Given the description of an element on the screen output the (x, y) to click on. 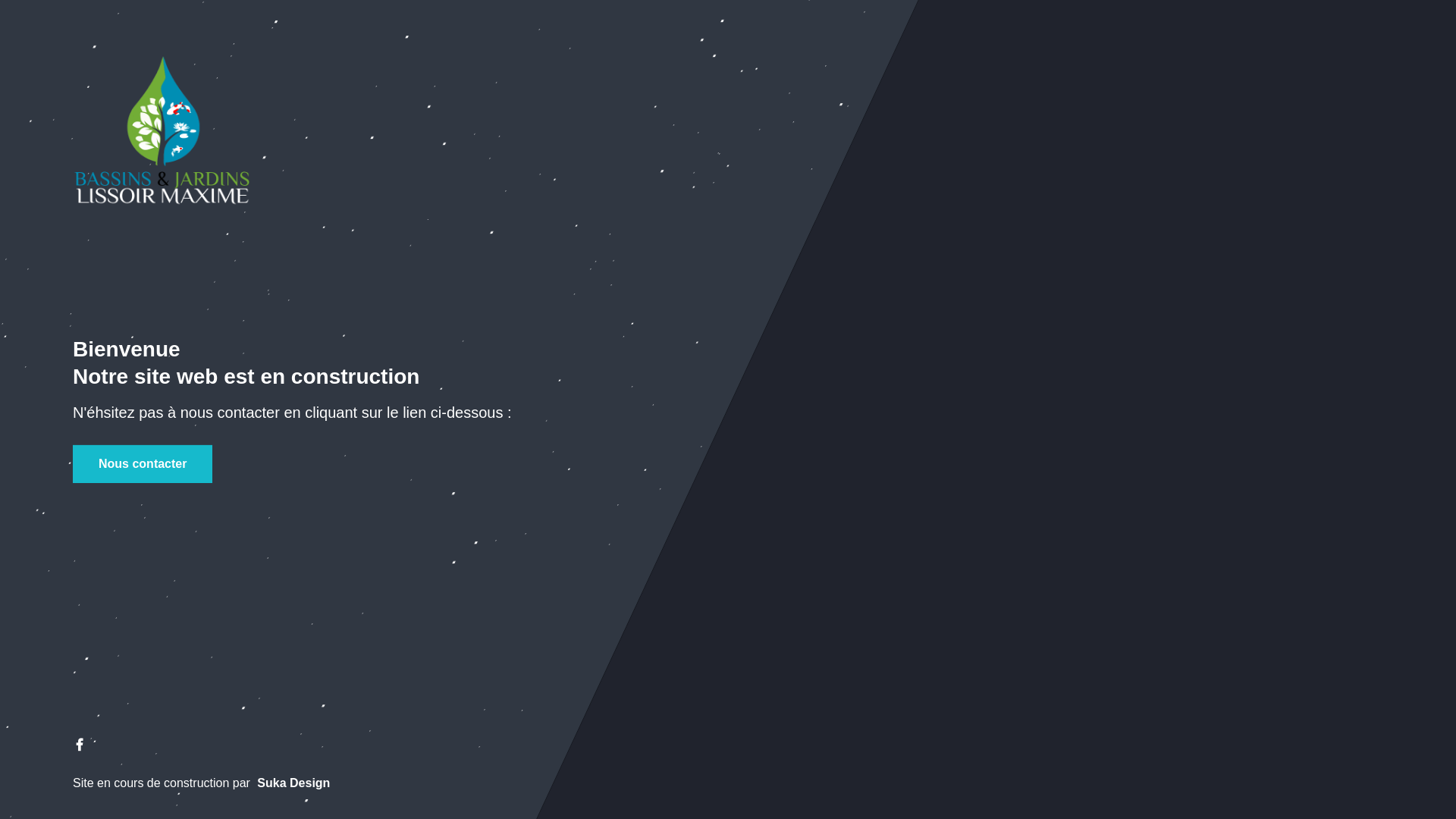
Nous contacter Element type: text (142, 464)
Suka Design Element type: text (293, 783)
